Given the description of an element on the screen output the (x, y) to click on. 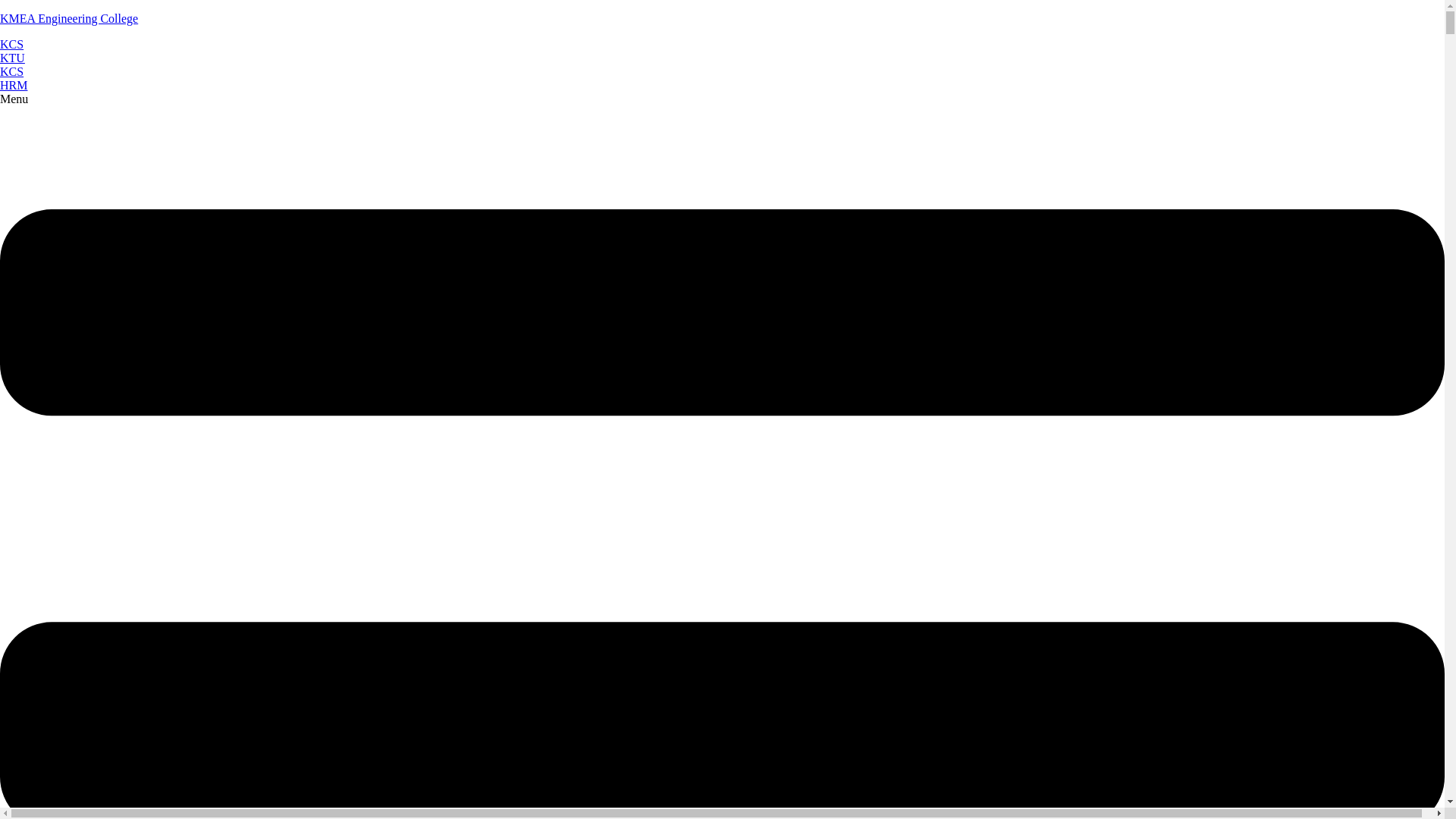
KTU (12, 57)
KCS (11, 43)
HRM (13, 84)
KMEA Engineering College (69, 18)
KCS (11, 71)
KMEA Engineering College (69, 18)
